Given the description of an element on the screen output the (x, y) to click on. 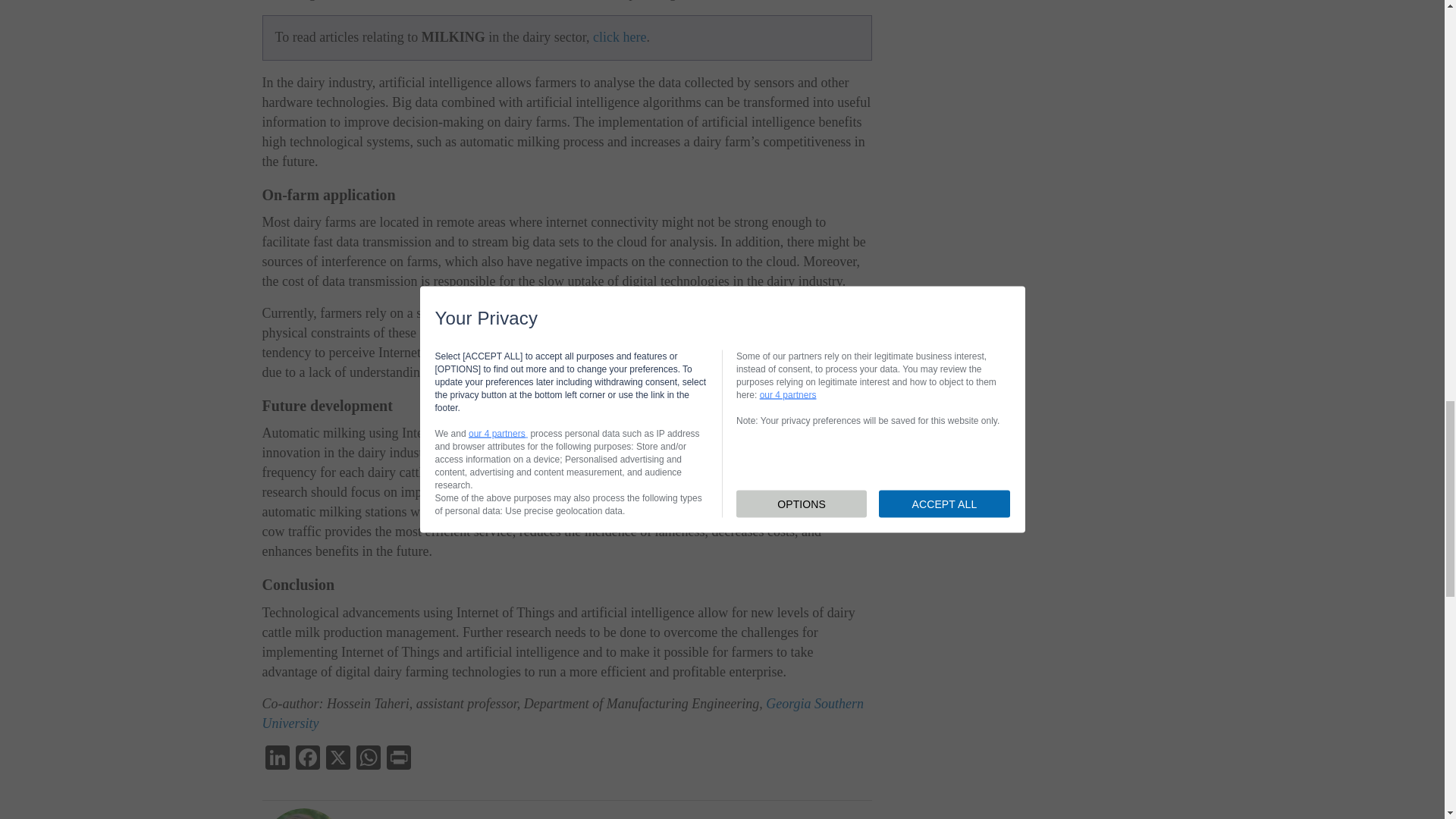
Facebook (307, 759)
WhatsApp (368, 759)
LinkedIn (277, 759)
X (338, 759)
Print (398, 759)
